Given the description of an element on the screen output the (x, y) to click on. 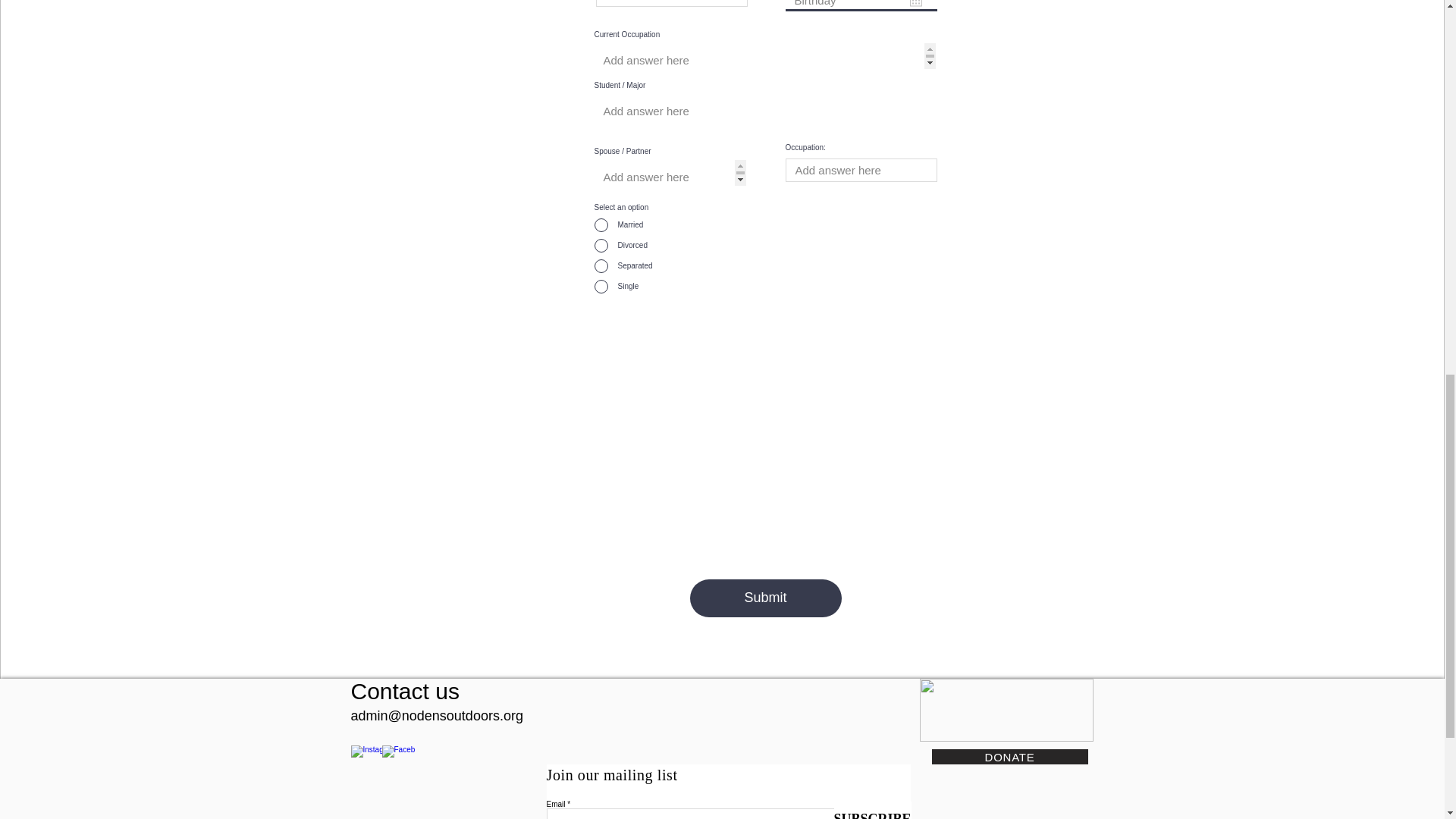
SUBSCRIBE (872, 810)
Submit (765, 598)
DONATE (1009, 756)
